Given the description of an element on the screen output the (x, y) to click on. 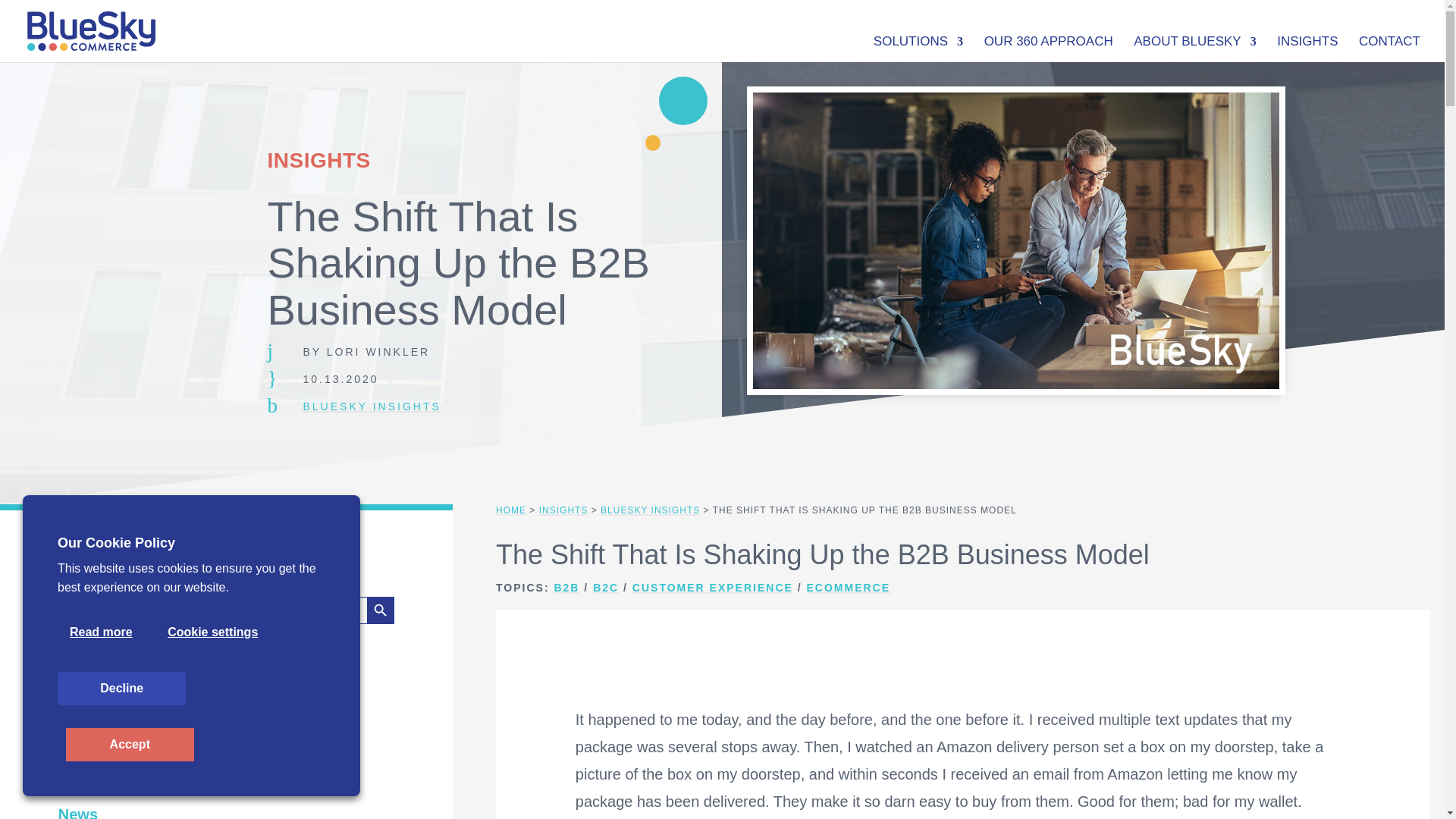
CONTACT (1389, 45)
SOLUTIONS (917, 45)
BlueSky Insights (119, 709)
Search Button (380, 610)
BlueSky Cares (111, 674)
News (77, 812)
BLUESKY INSIGHTS (371, 406)
INSIGHTS (1307, 45)
ABOUT BLUESKY (1194, 45)
Events (82, 744)
Marketing (93, 779)
OUR 360 APPROACH (1048, 45)
